Given the description of an element on the screen output the (x, y) to click on. 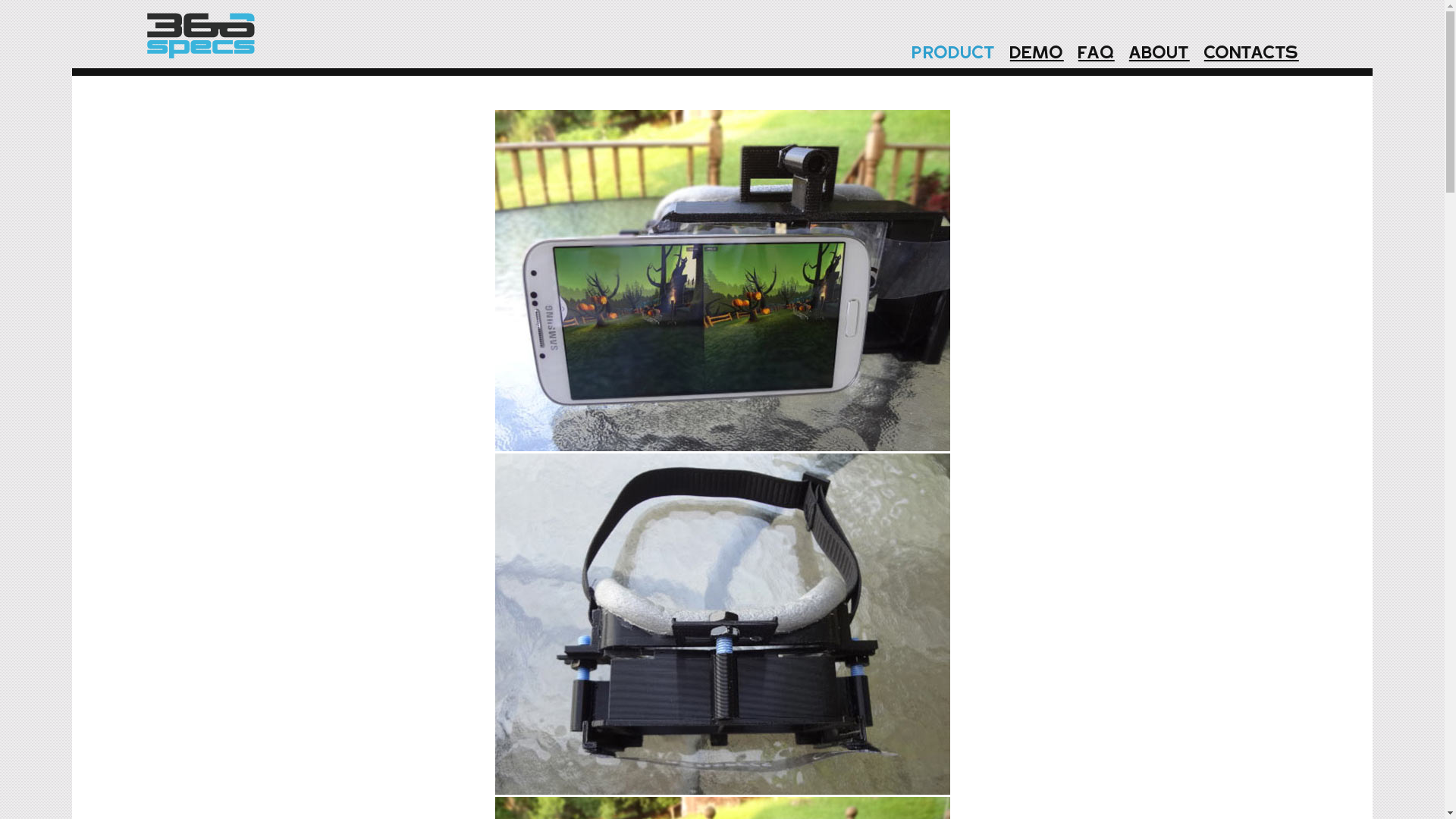
CONTACTS Element type: text (1247, 53)
One of the working prototype of 360specs headset. Element type: hover (721, 623)
DEMO Element type: text (1032, 53)
FAQ Element type: text (1092, 53)
PRODUCT Element type: text (949, 53)
ABOUT Element type: text (1155, 53)
